Given the description of an element on the screen output the (x, y) to click on. 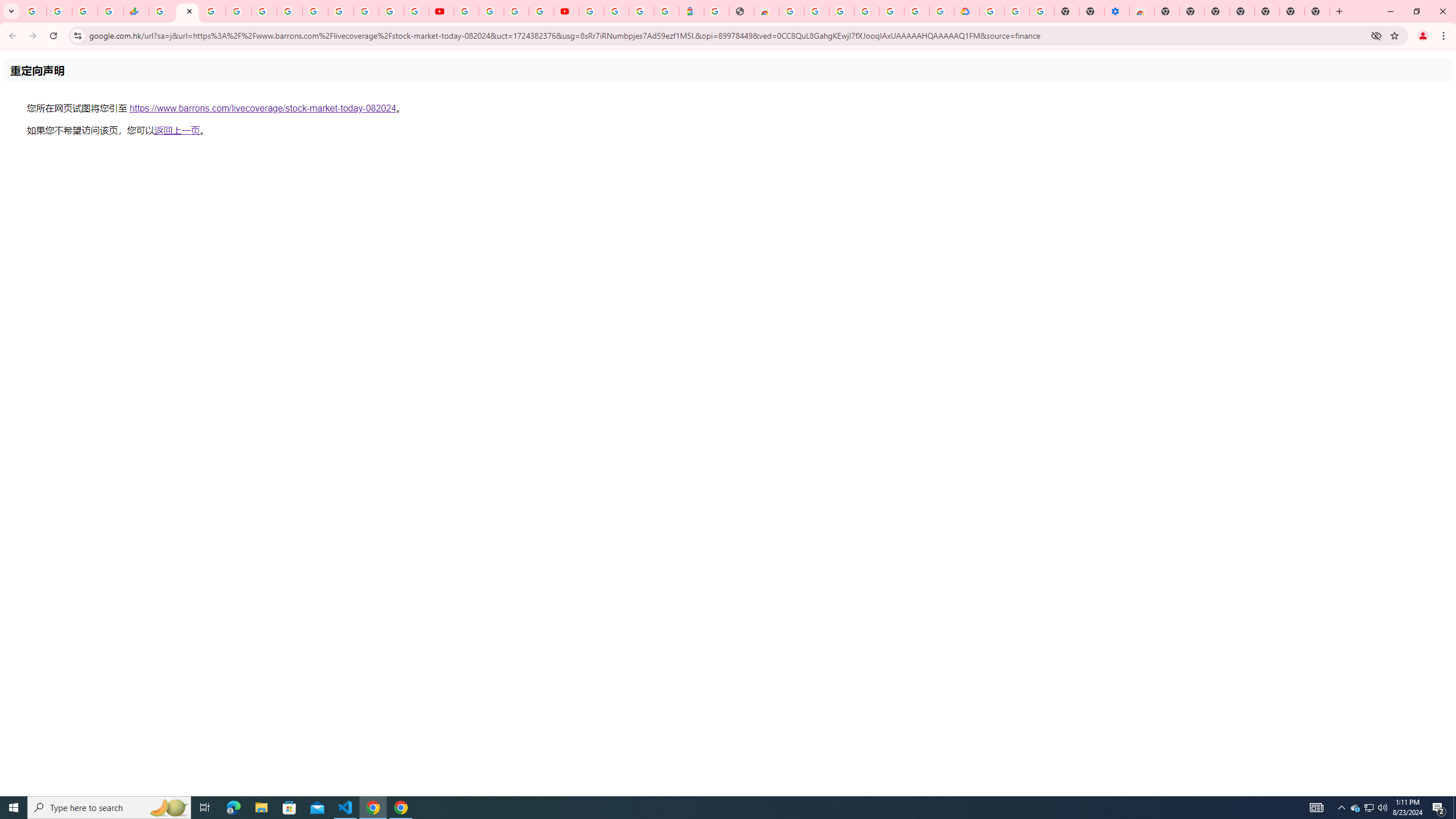
Google Account Help (1016, 11)
Sign in - Google Accounts (238, 11)
Sign in - Google Accounts (841, 11)
Content Creator Programs & Opportunities - YouTube Creators (565, 11)
Sign in - Google Accounts (616, 11)
Chrome Web Store - Household (766, 11)
